Given the description of an element on the screen output the (x, y) to click on. 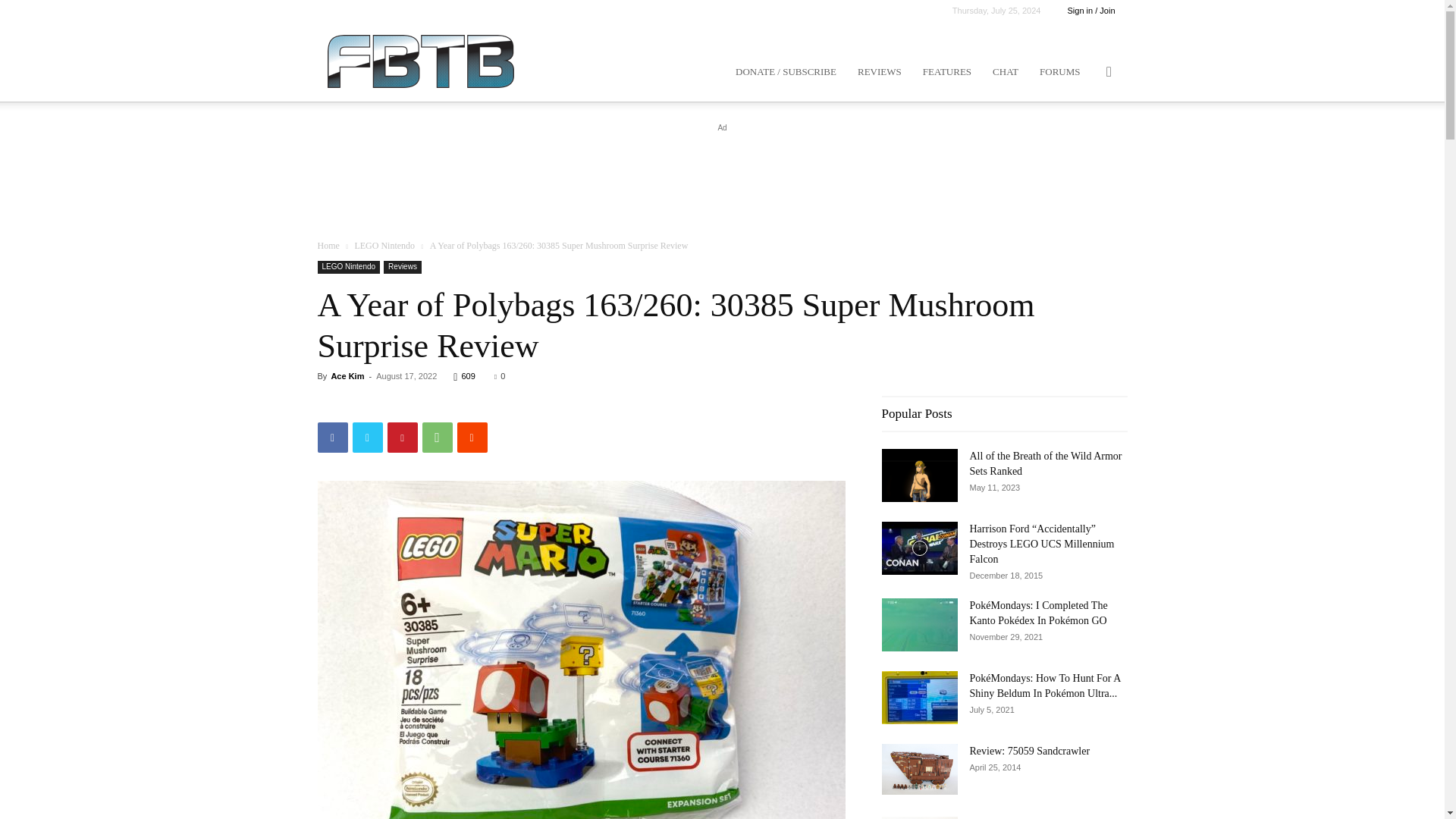
From Bricks To Bothans (419, 60)
0 (500, 375)
FEATURES (946, 71)
Search (1085, 143)
Twitter (366, 437)
topFacebookLike (430, 403)
FORUMS (1059, 71)
Ace Kim (347, 375)
ReddIt (471, 437)
REVIEWS (879, 71)
WhatsApp (436, 437)
Pinterest (401, 437)
Facebook (332, 437)
Reviews (403, 267)
LEGO Nintendo (383, 245)
